Given the description of an element on the screen output the (x, y) to click on. 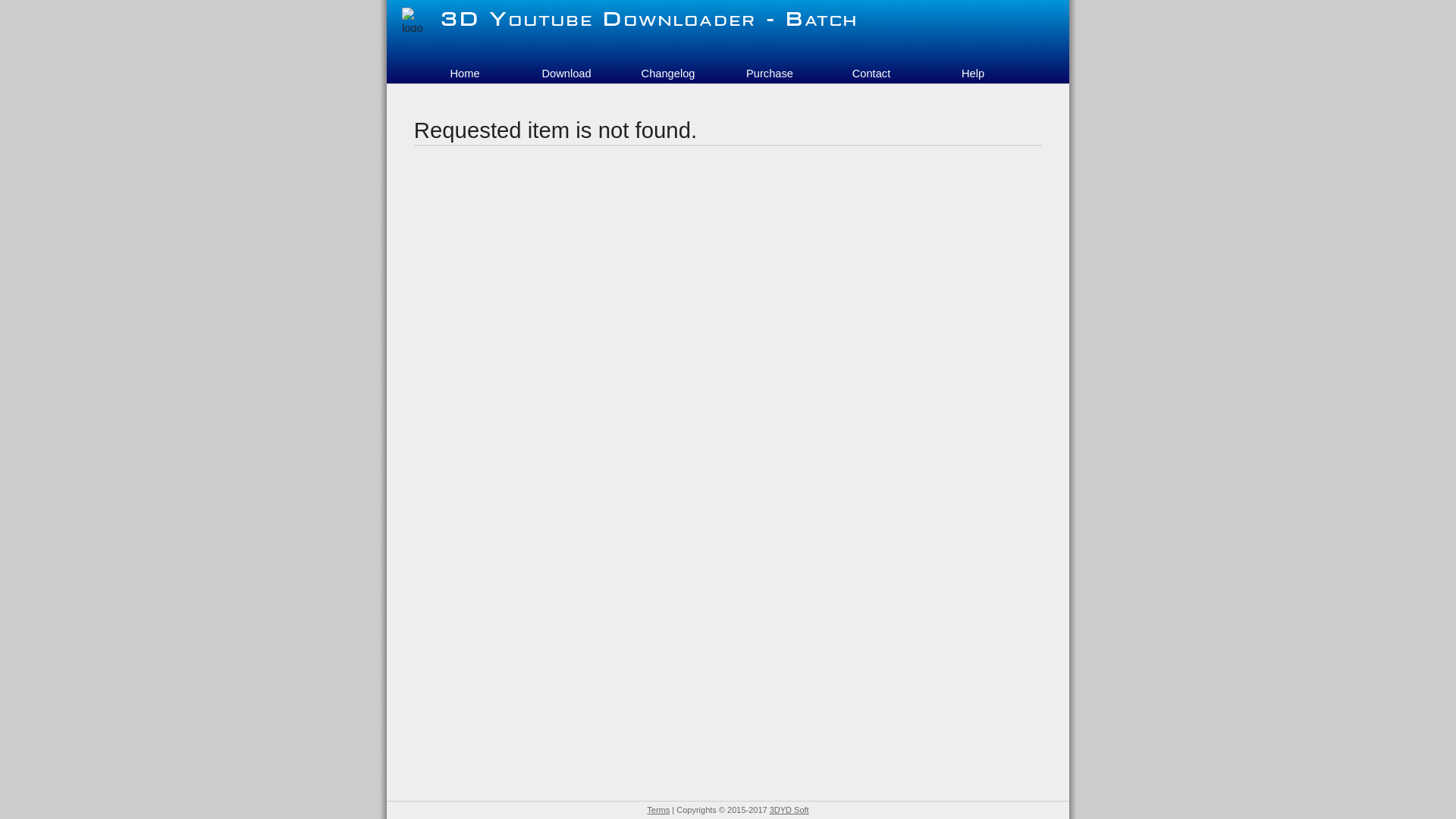
Home Element type: text (464, 73)
Purchase Element type: text (769, 73)
Help Element type: text (972, 73)
Terms Element type: text (657, 809)
Contact Element type: text (871, 73)
3DYD Soft Element type: text (789, 809)
Changelog Element type: text (667, 73)
Download Element type: text (566, 73)
